Given the description of an element on the screen output the (x, y) to click on. 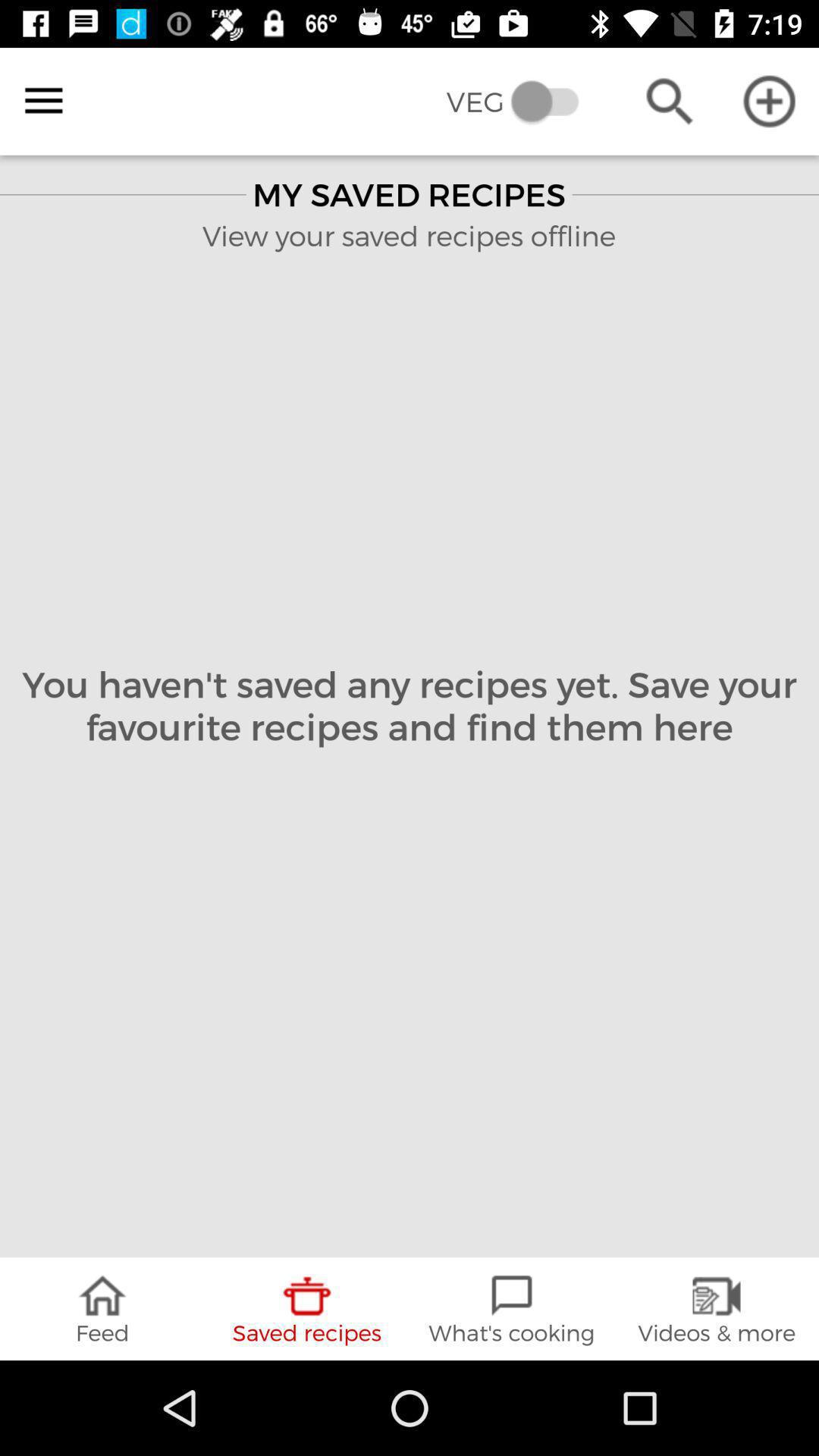
turn off item at the bottom left corner (102, 1308)
